Given the description of an element on the screen output the (x, y) to click on. 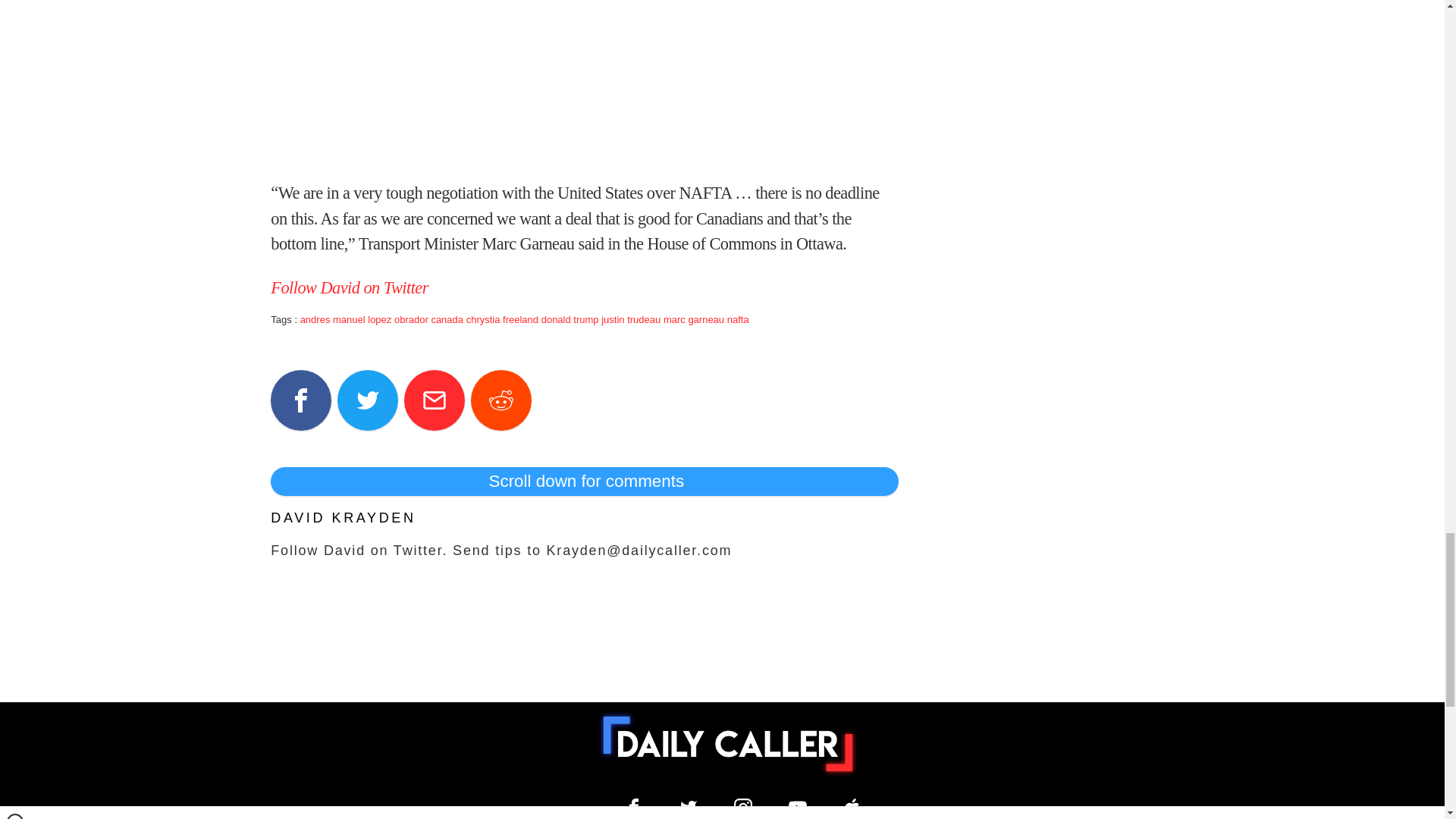
To home page (727, 743)
Daily Caller Facebook (633, 807)
Daily Caller Instagram (742, 807)
Daily Caller YouTube (797, 807)
Daily Caller YouTube (852, 807)
Scroll down for comments (584, 481)
Daily Caller Twitter (688, 807)
